Given the description of an element on the screen output the (x, y) to click on. 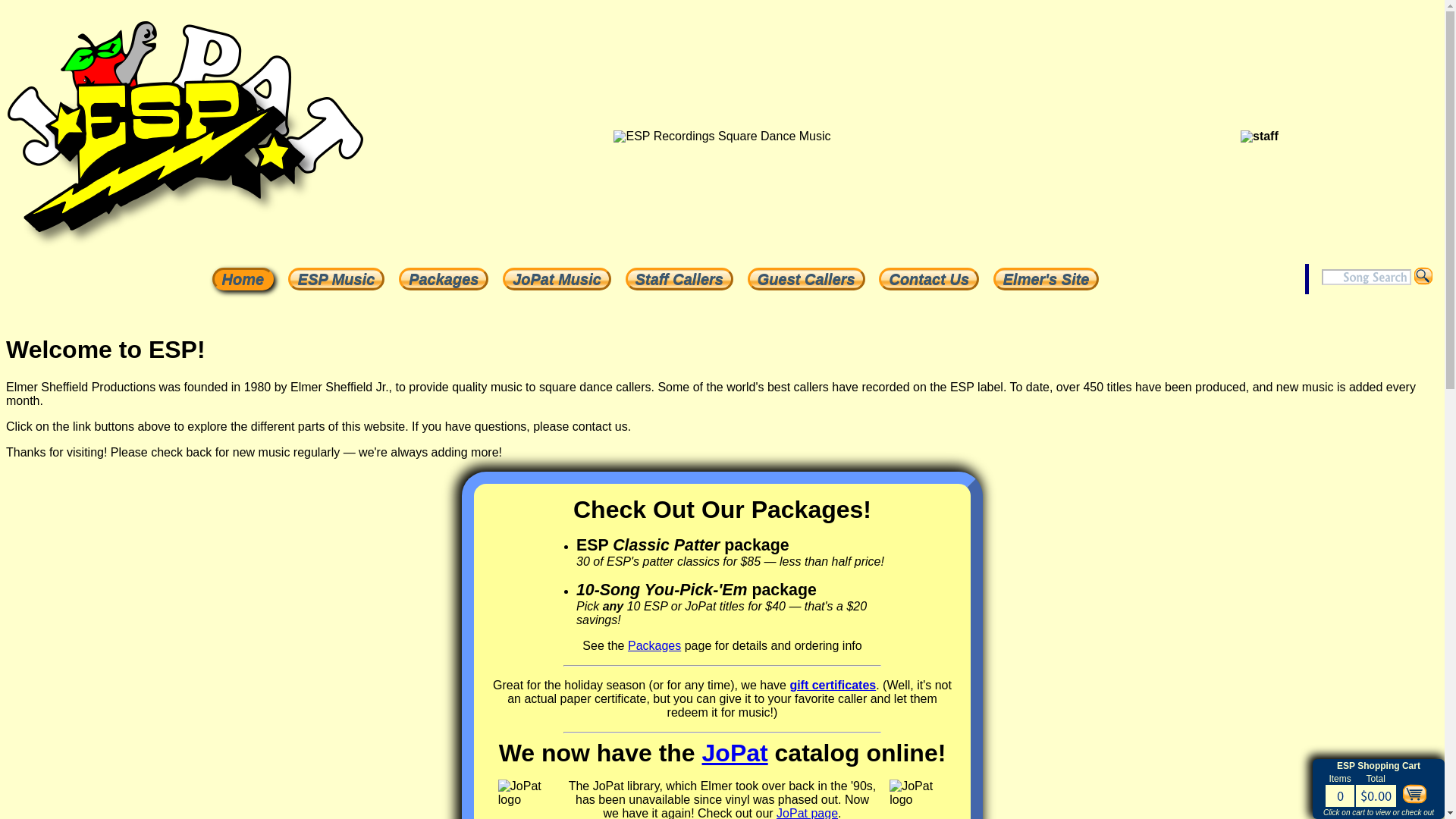
JoPat page (807, 812)
Packages (442, 278)
Packages (654, 645)
gift certificates (832, 684)
JoPat Music (556, 278)
Contact Us (928, 278)
Home (243, 278)
JoPat (734, 752)
ESP Music (336, 278)
Staff Callers (679, 278)
